Given the description of an element on the screen output the (x, y) to click on. 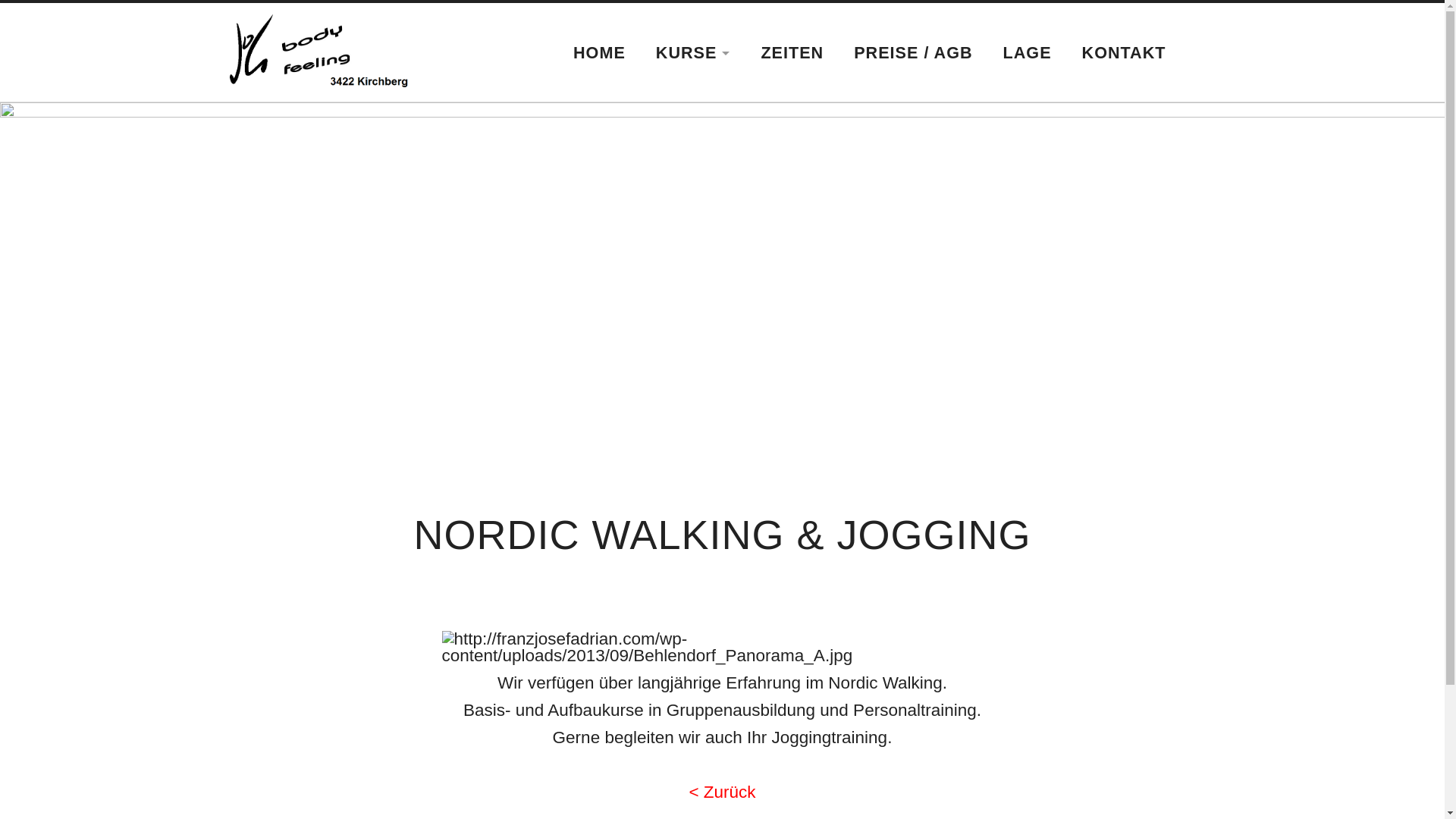
Show the search field Element type: hover (1199, 49)
HOME Element type: text (599, 52)
KURSE Element type: text (693, 52)
PREISE / AGB Element type: text (912, 52)
LAGE Element type: text (1027, 52)
ZEITEN Element type: text (791, 52)
KONTAKT Element type: text (1123, 52)
